Given the description of an element on the screen output the (x, y) to click on. 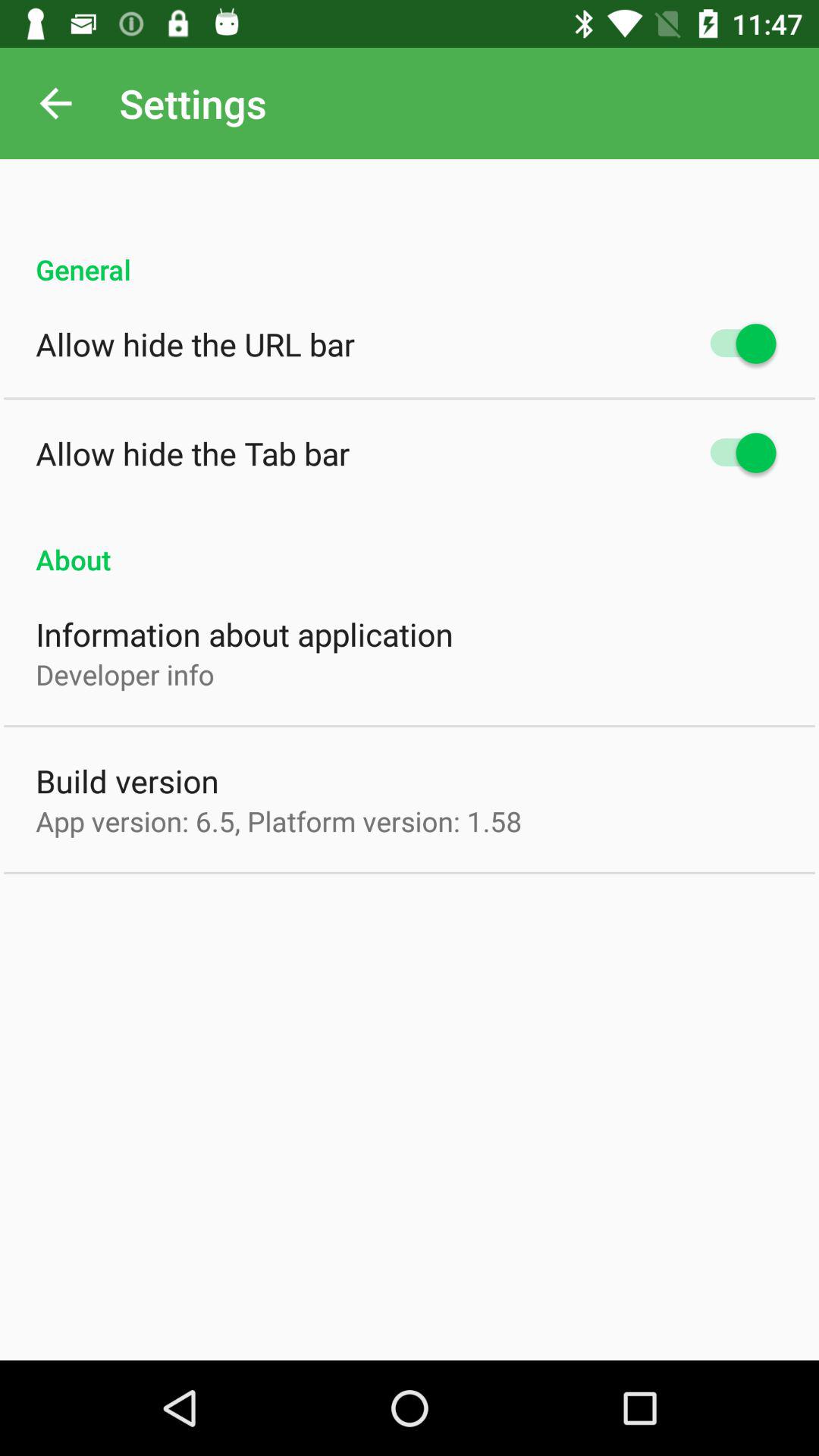
flip to general (409, 253)
